Given the description of an element on the screen output the (x, y) to click on. 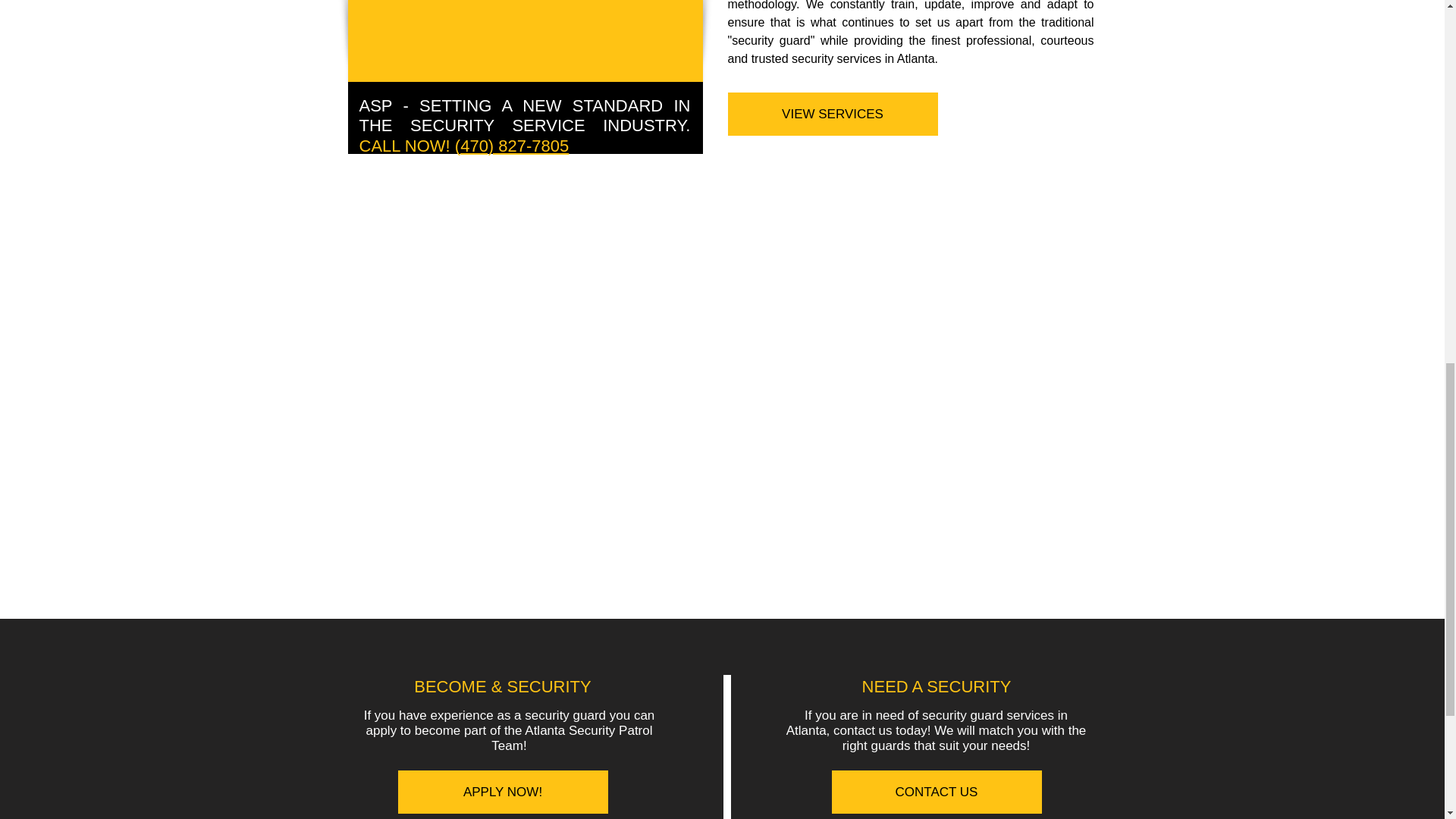
APPLY NOW! (502, 792)
VIEW SERVICES (832, 113)
CONTACT US (936, 792)
